Given the description of an element on the screen output the (x, y) to click on. 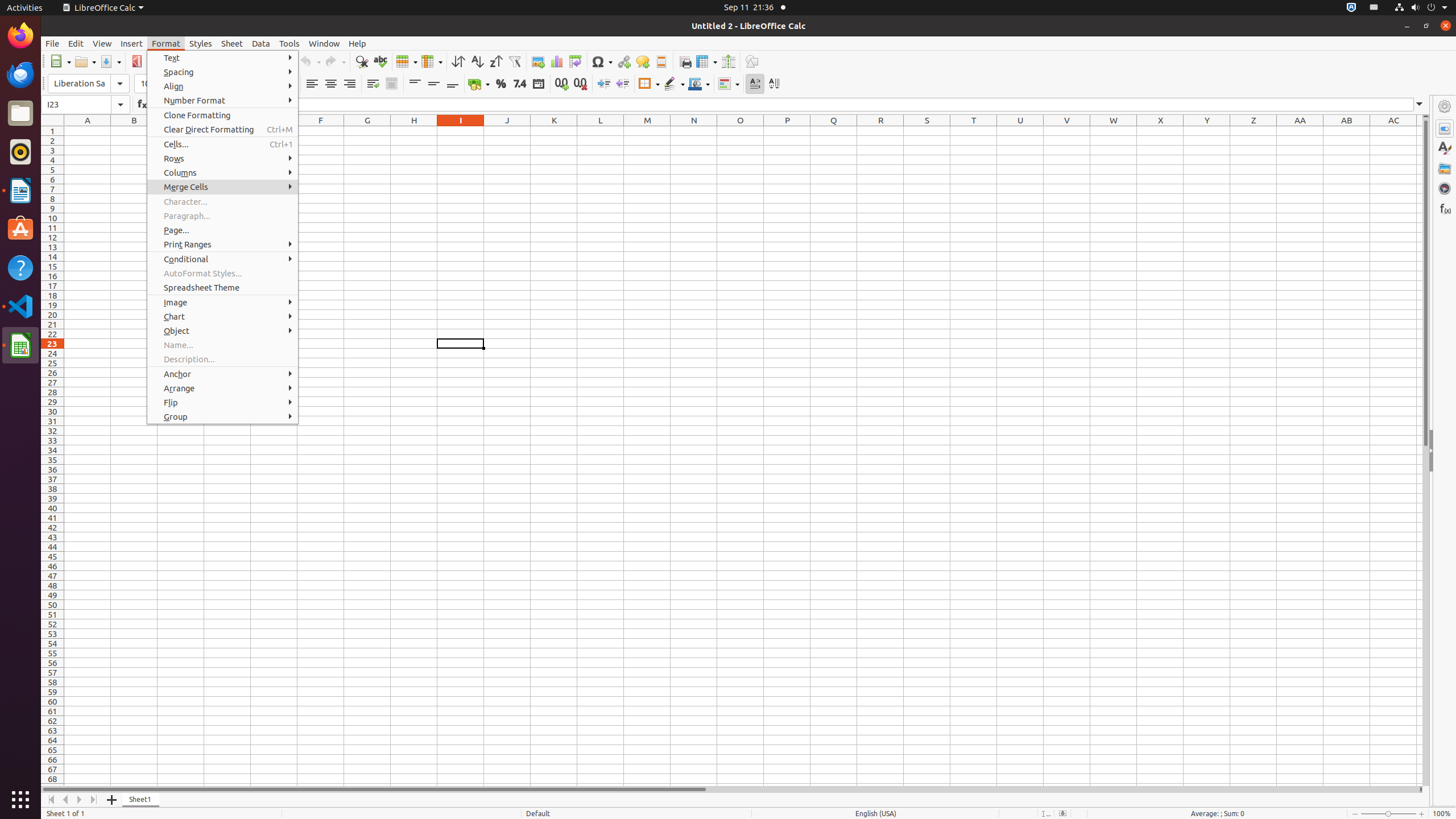
Y1 Element type: table-cell (1206, 130)
AC1 Element type: table-cell (1393, 130)
Horizontal scroll bar Element type: scroll-bar (729, 789)
X1 Element type: table-cell (1159, 130)
J1 Element type: table-cell (507, 130)
